Given the description of an element on the screen output the (x, y) to click on. 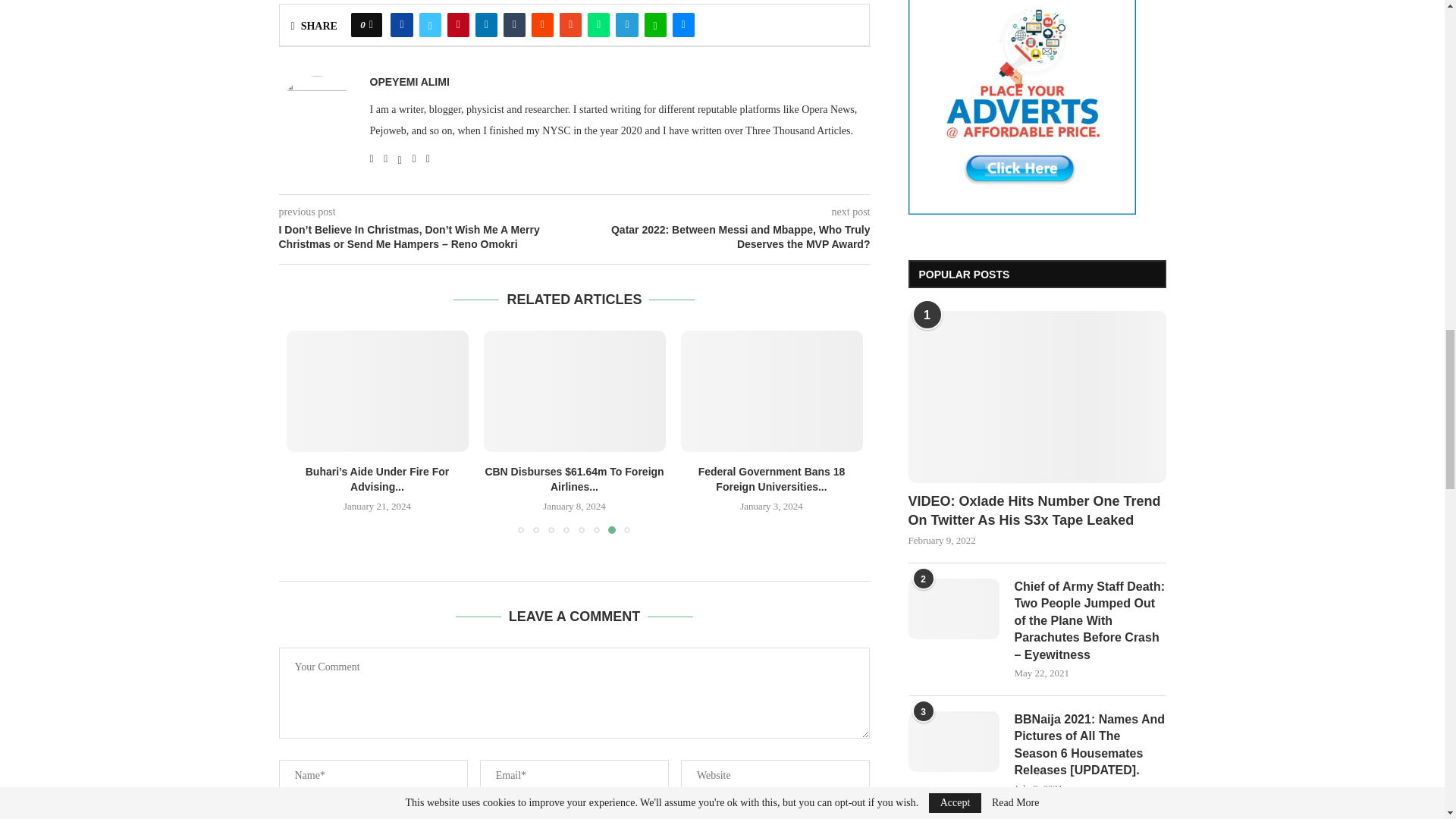
yes (283, 816)
Author Opeyemi Alimi (409, 81)
